Given the description of an element on the screen output the (x, y) to click on. 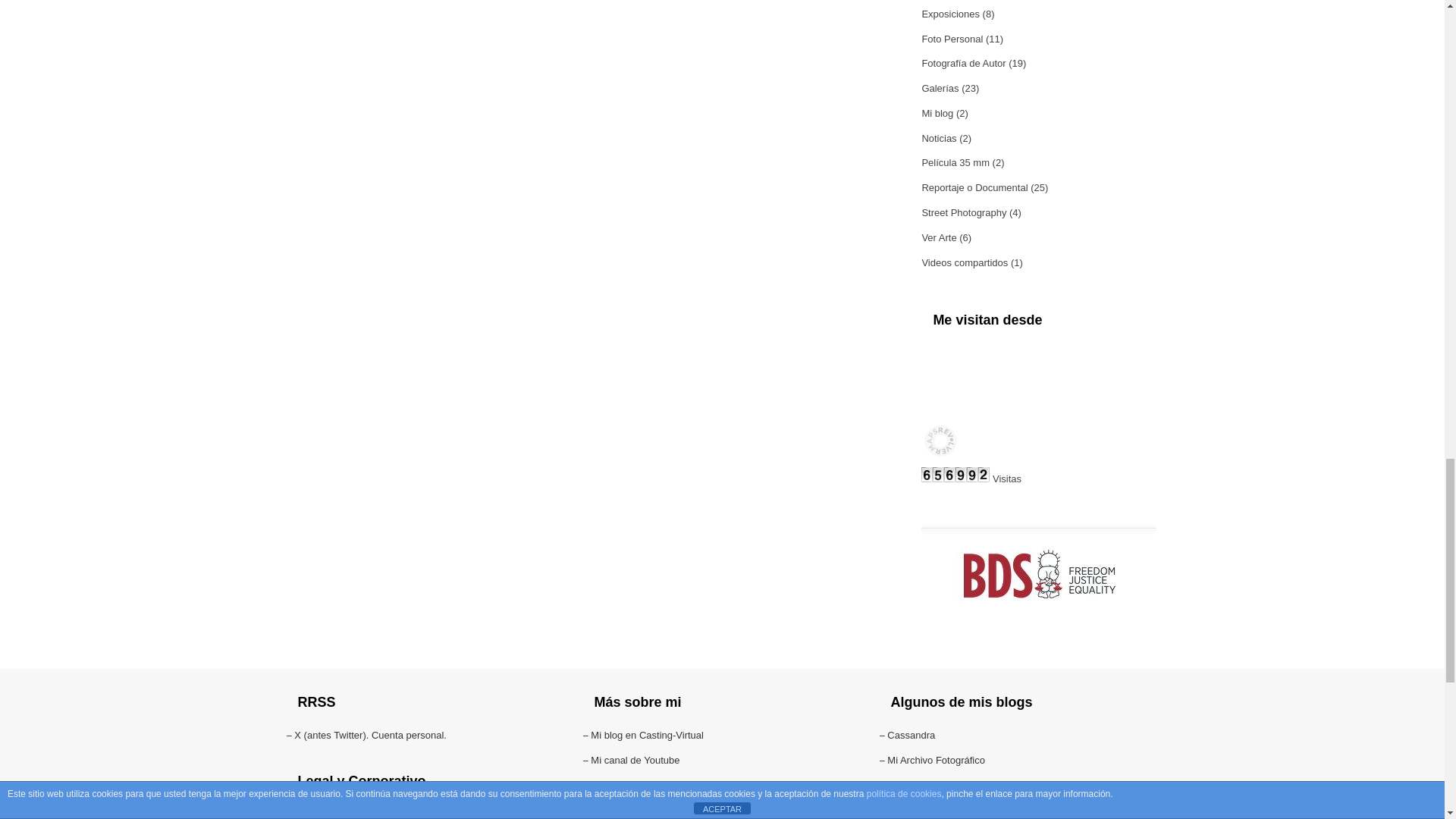
Reportaje o Documental (974, 187)
Exposiciones (950, 13)
Mi blog (937, 112)
Noticias (938, 138)
contador de visitas (955, 478)
Foto Personal (951, 39)
